Given the description of an element on the screen output the (x, y) to click on. 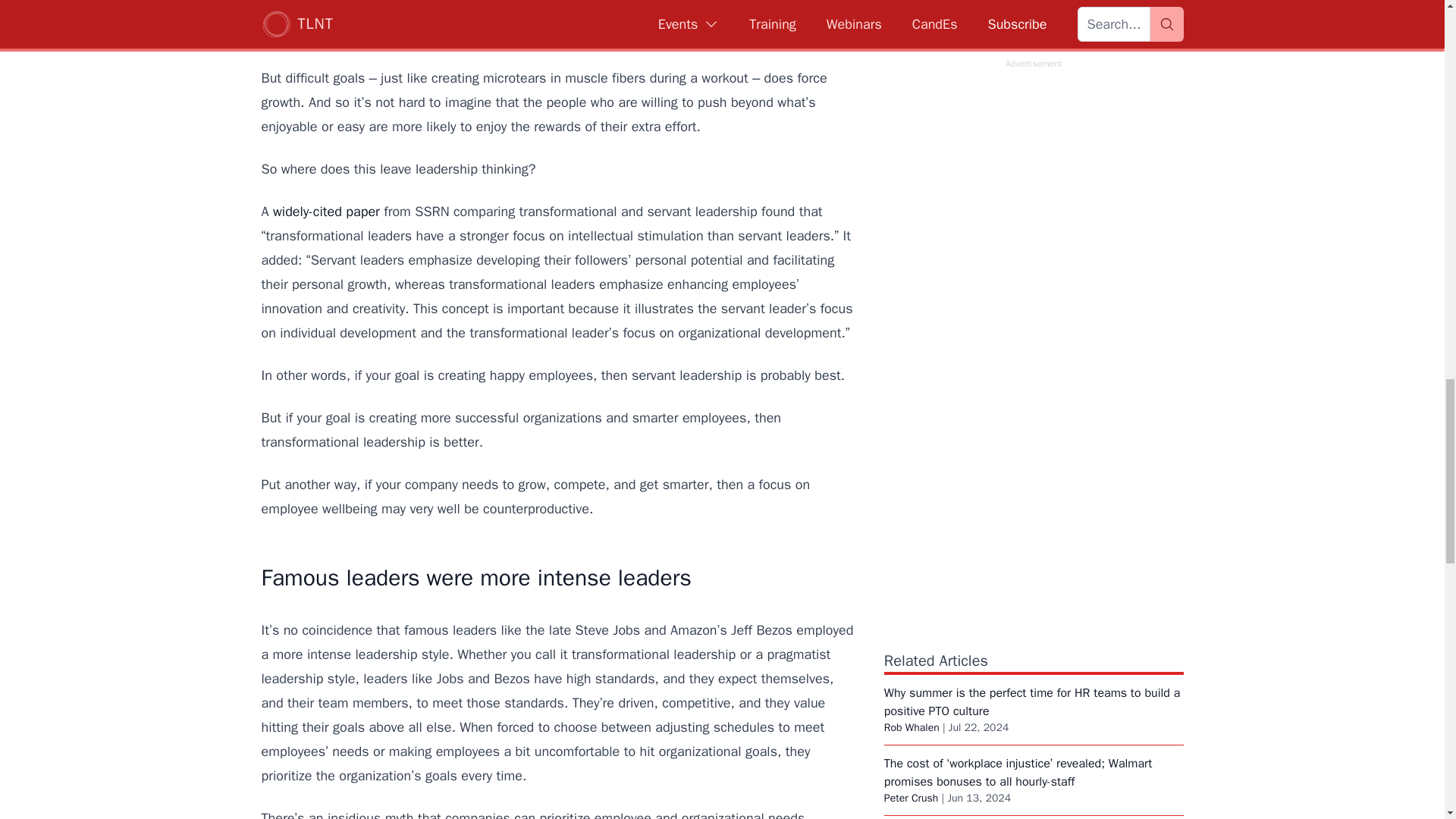
Rob Whalen (911, 727)
widely-cited paper (326, 211)
Peter Crush (911, 797)
